Given the description of an element on the screen output the (x, y) to click on. 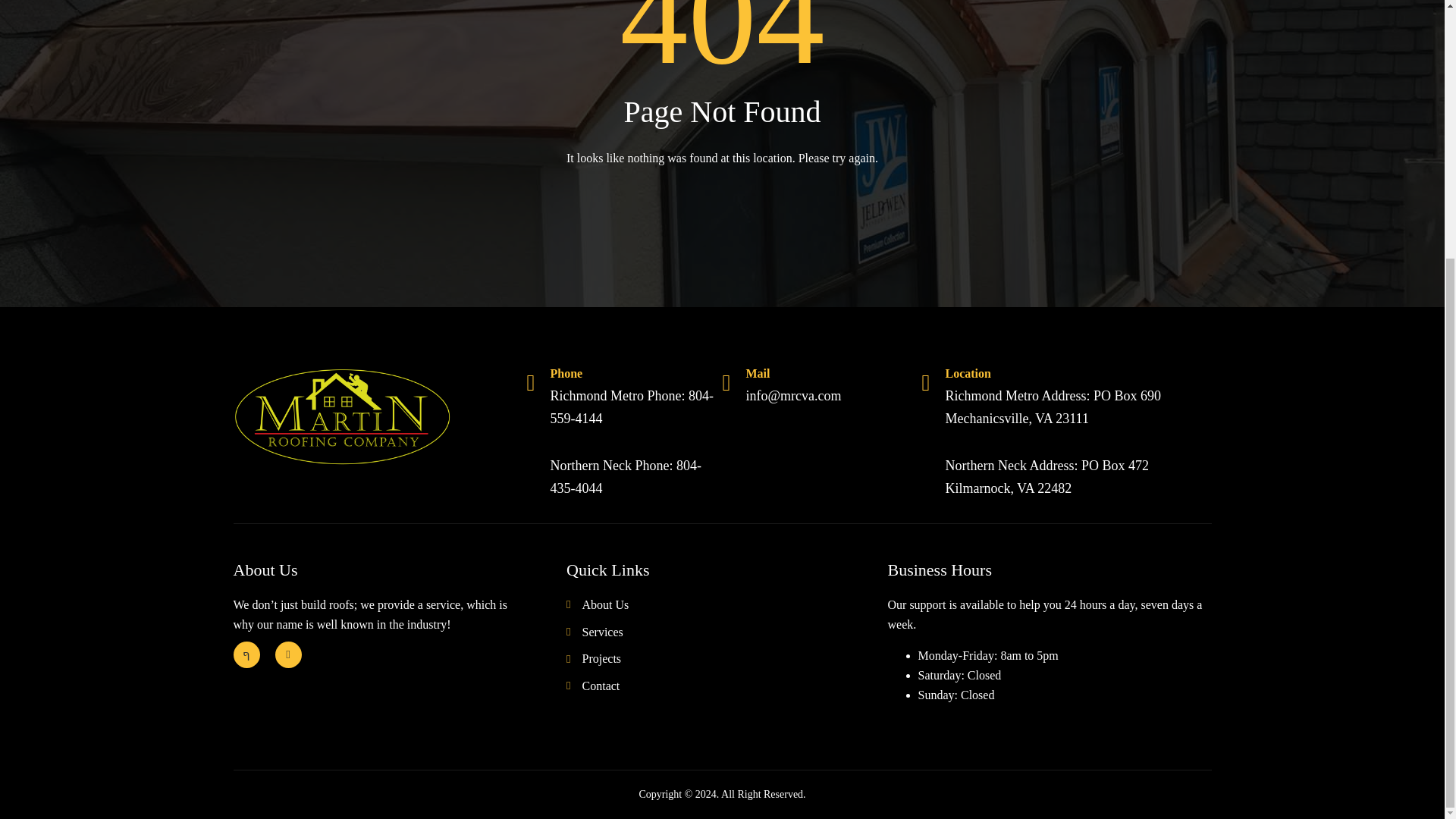
Projects (726, 659)
Services (726, 632)
About Us (726, 605)
Contact (726, 686)
